Given the description of an element on the screen output the (x, y) to click on. 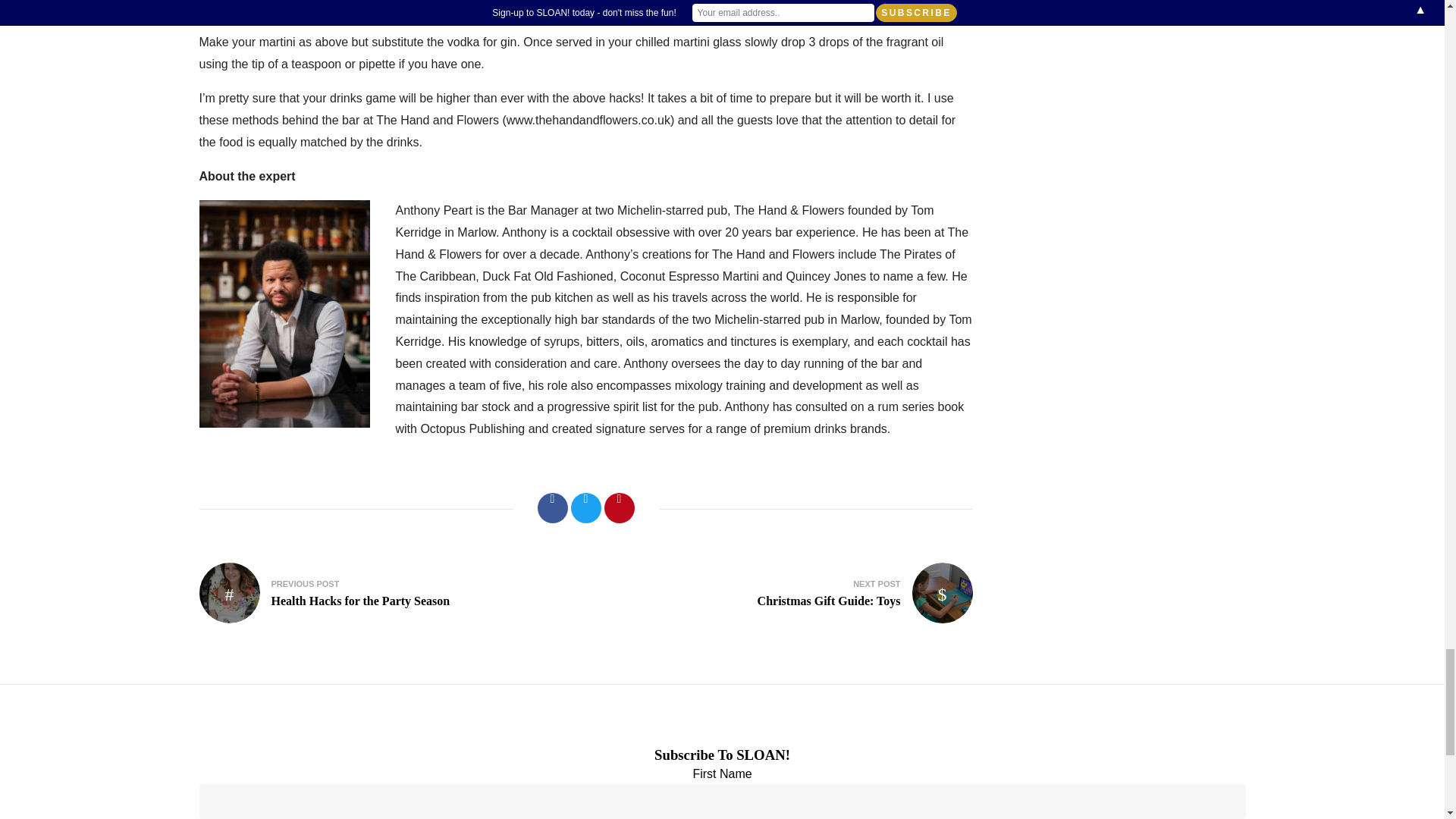
Facebook (552, 508)
Twitter (584, 508)
Pinterest (618, 508)
